Given the description of an element on the screen output the (x, y) to click on. 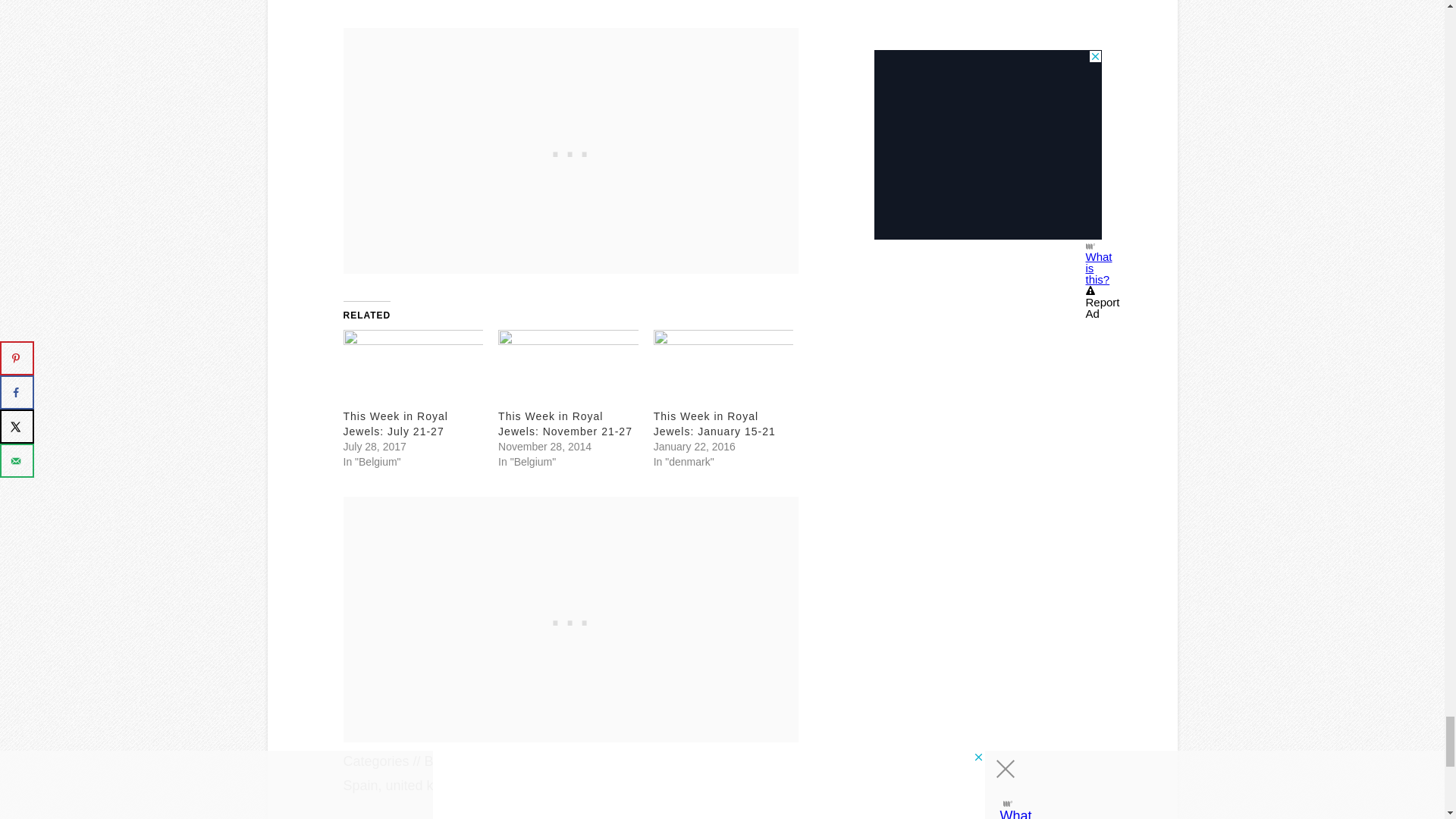
This Week in Royal Jewels: January 15-21 (723, 368)
This Week in Royal Jewels: November 21-27 (568, 368)
This Week in Royal Jewels: July 21-27 (412, 368)
This Week in Royal Jewels: July 21-27 (394, 424)
This Week in Royal Jewels: November 21-27 (564, 424)
This Week in Royal Jewels: January 15-21 (714, 424)
